Given the description of an element on the screen output the (x, y) to click on. 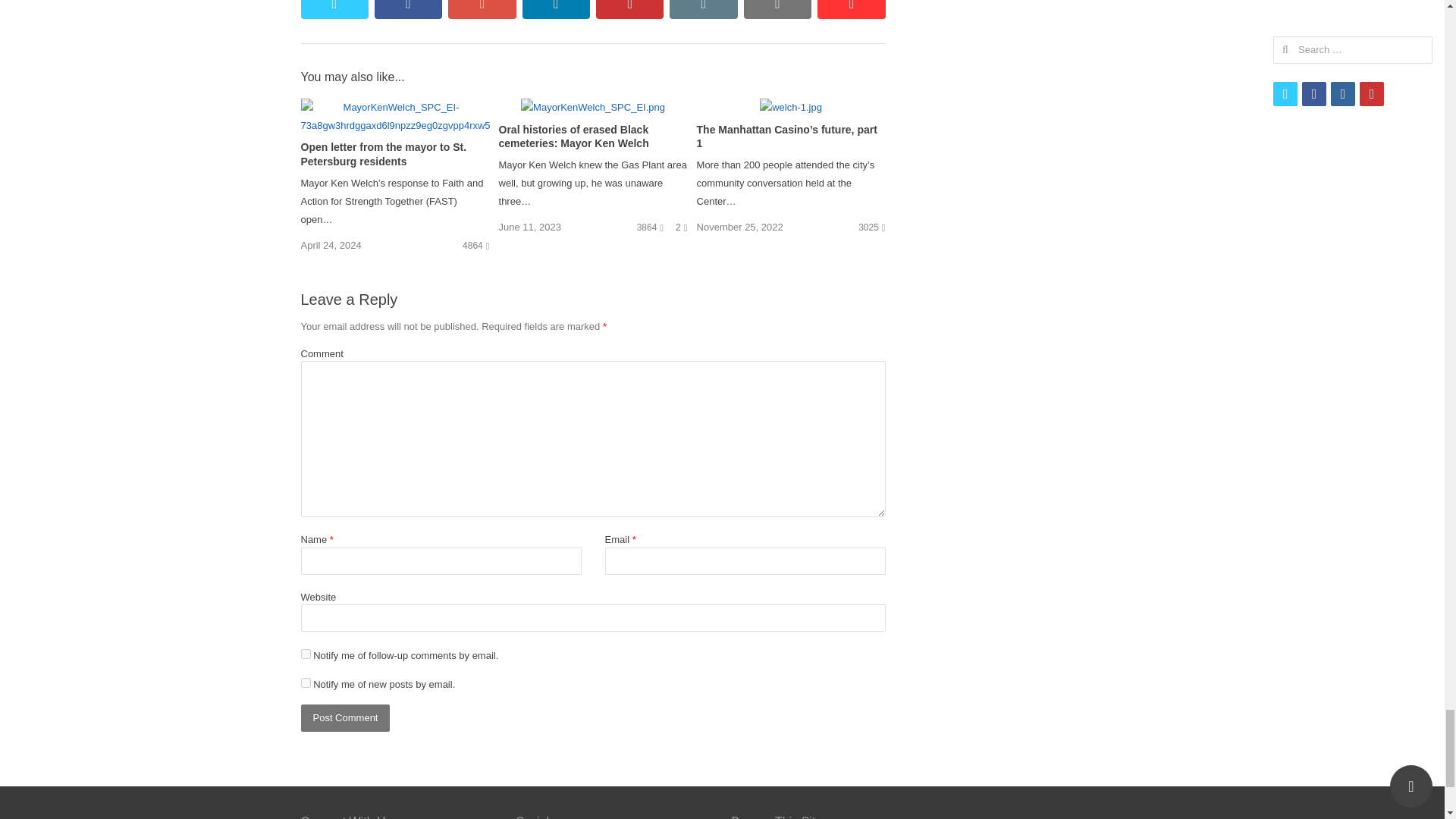
subscribe (304, 682)
Post Comment (344, 718)
subscribe (304, 654)
